Given the description of an element on the screen output the (x, y) to click on. 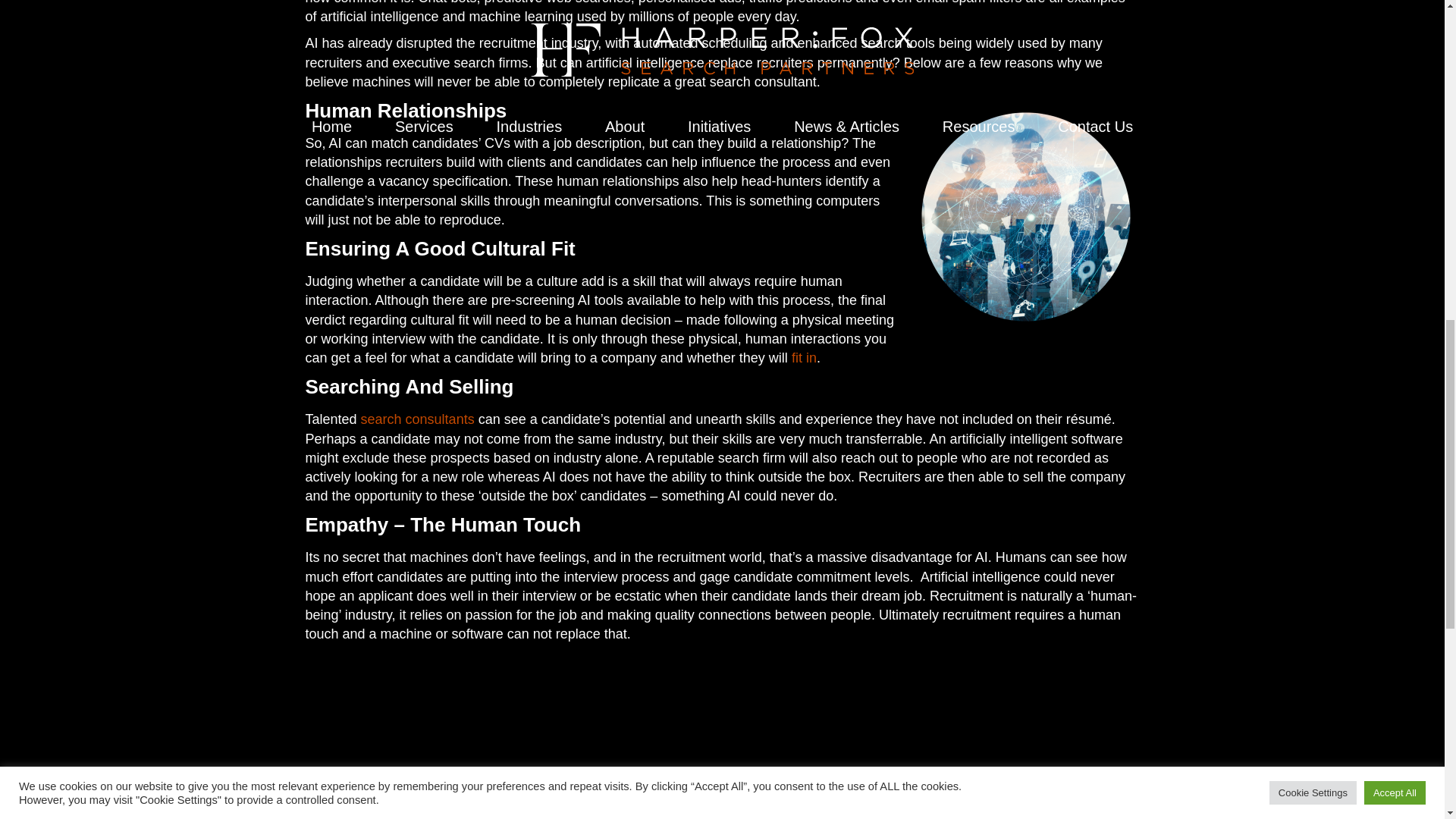
search consultants (417, 418)
fit in (804, 357)
